Given the description of an element on the screen output the (x, y) to click on. 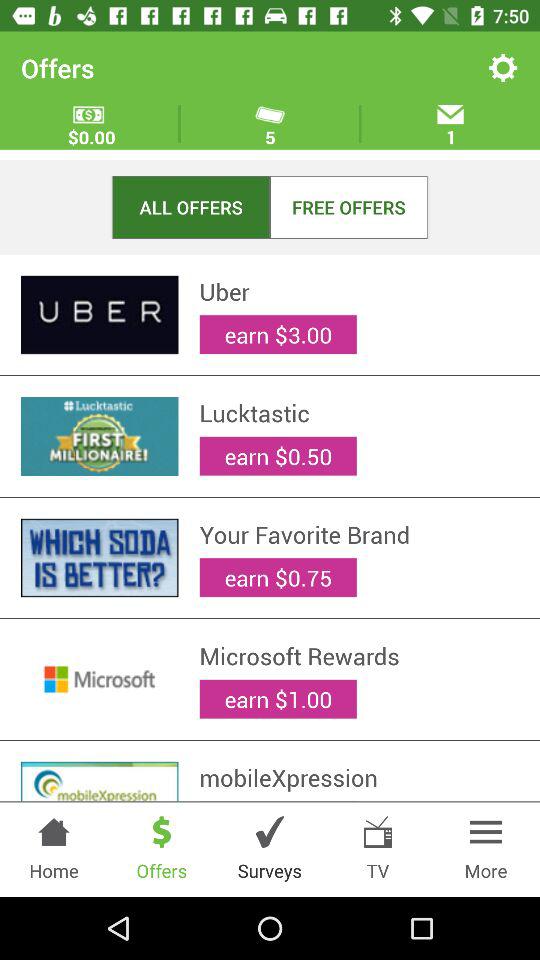
turn off the microsoft rewards item (359, 655)
